Given the description of an element on the screen output the (x, y) to click on. 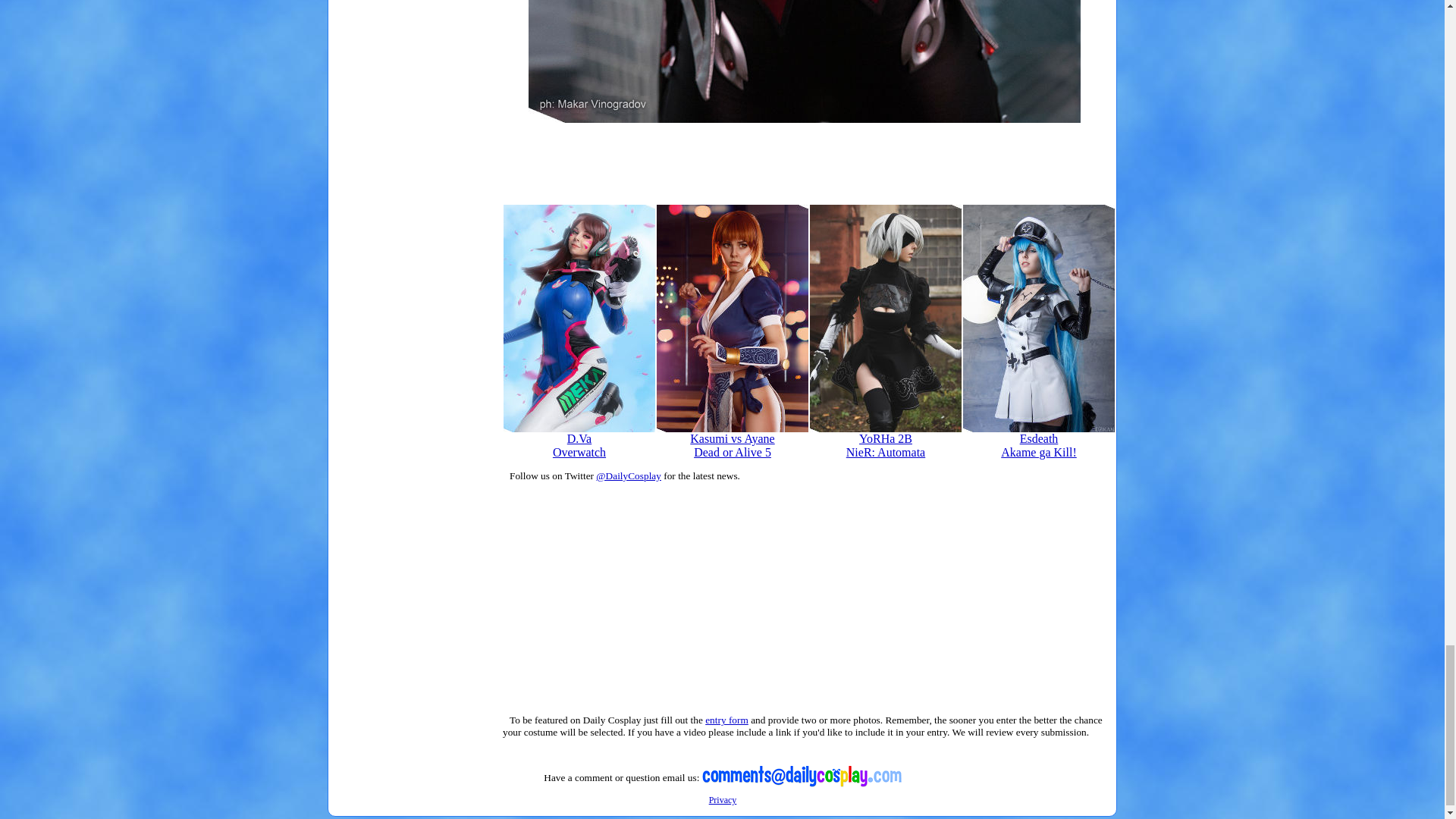
Privacy (722, 799)
entry form (884, 439)
